Given the description of an element on the screen output the (x, y) to click on. 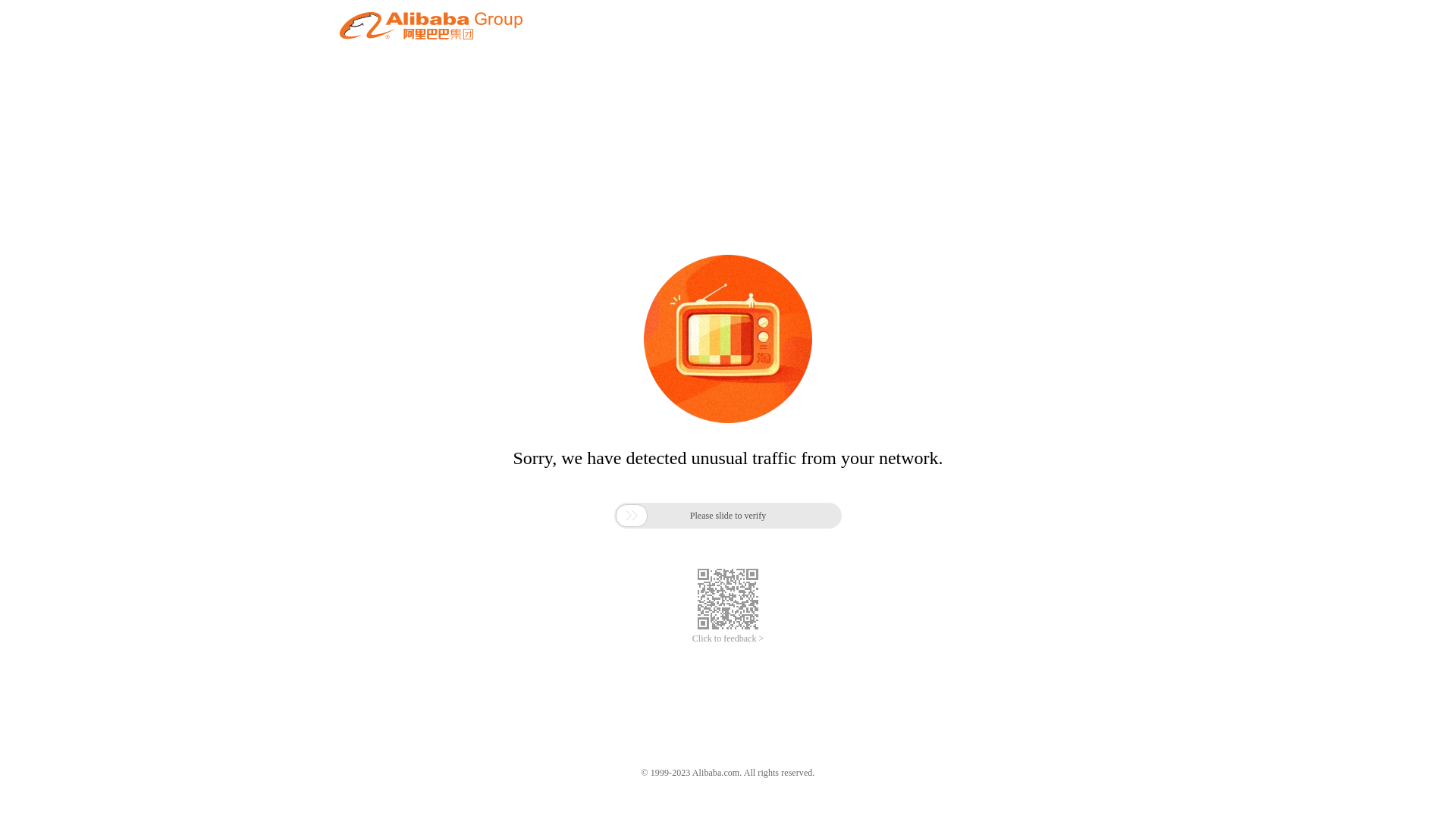
Click to feedback > Element type: text (727, 638)
